Given the description of an element on the screen output the (x, y) to click on. 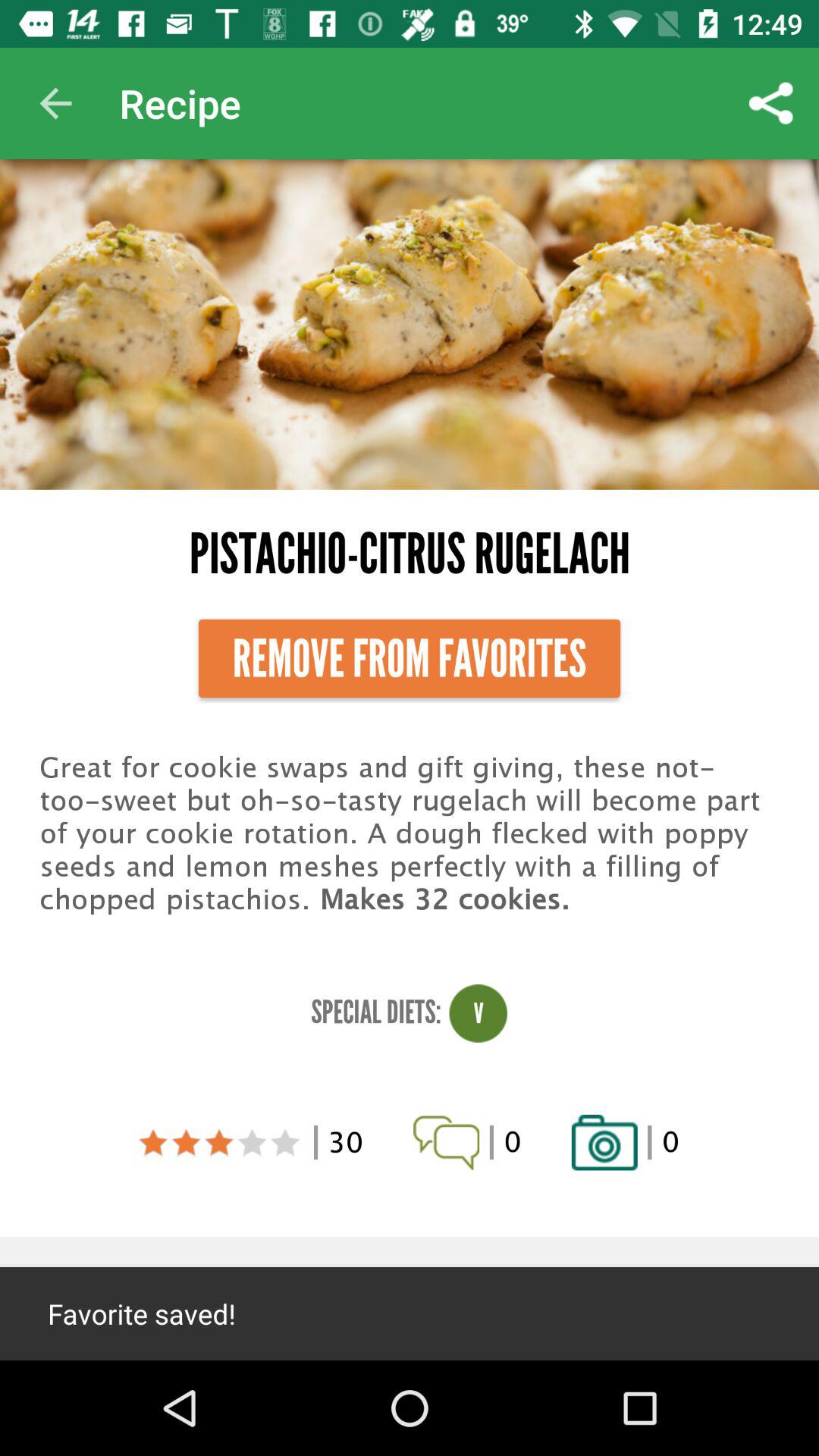
tap app to the right of recipe icon (771, 103)
